Given the description of an element on the screen output the (x, y) to click on. 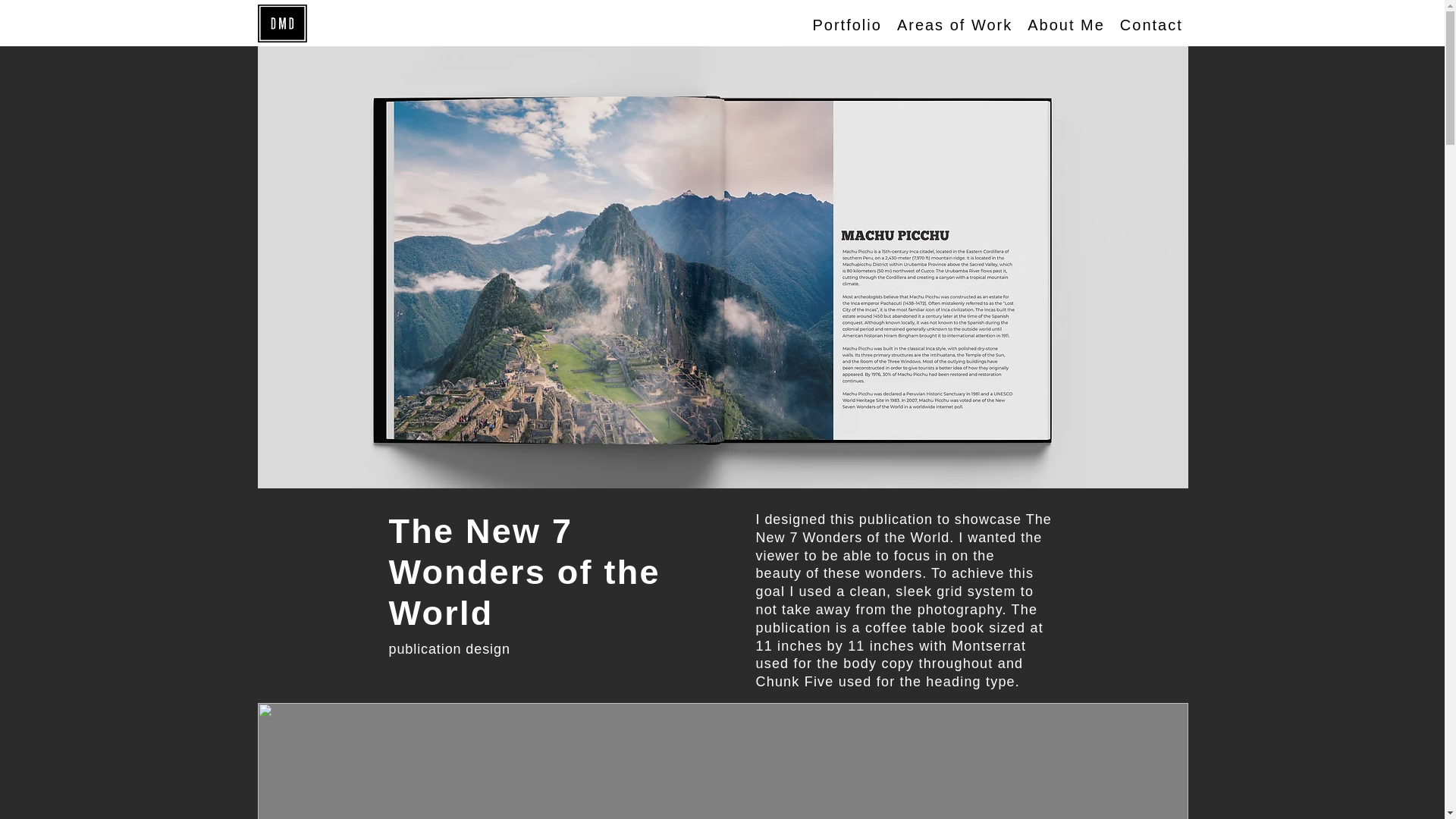
About Me (1066, 25)
Portfolio (847, 25)
Areas of Work (954, 25)
Behance (1233, 25)
Contact (1000, 25)
